Given the description of an element on the screen output the (x, y) to click on. 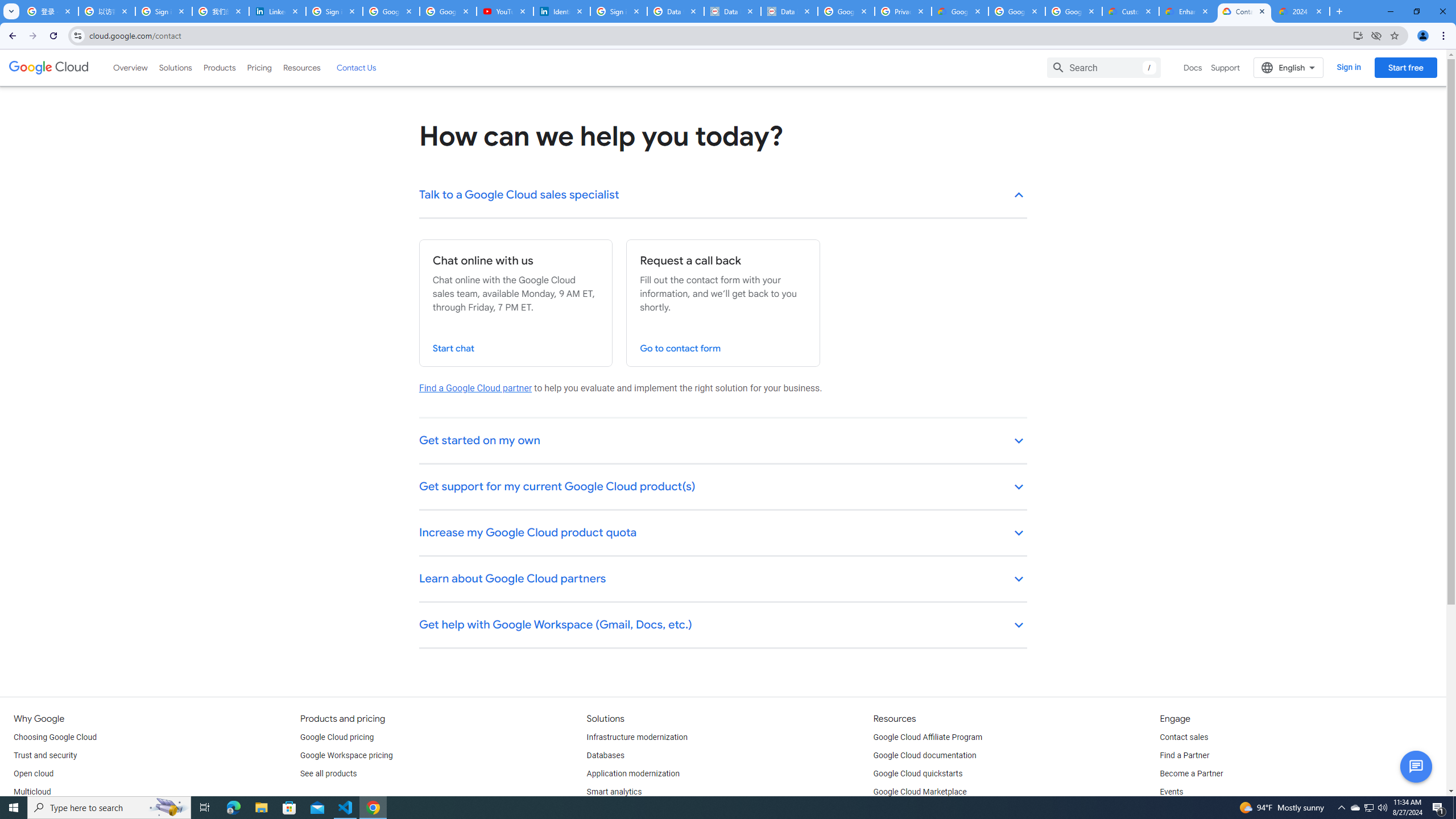
Databases (605, 755)
English (1288, 67)
LinkedIn Privacy Policy (277, 11)
Sign in - Google Accounts (163, 11)
Start free (1405, 67)
Data Privacy Framework (731, 11)
Products (218, 67)
